Given the description of an element on the screen output the (x, y) to click on. 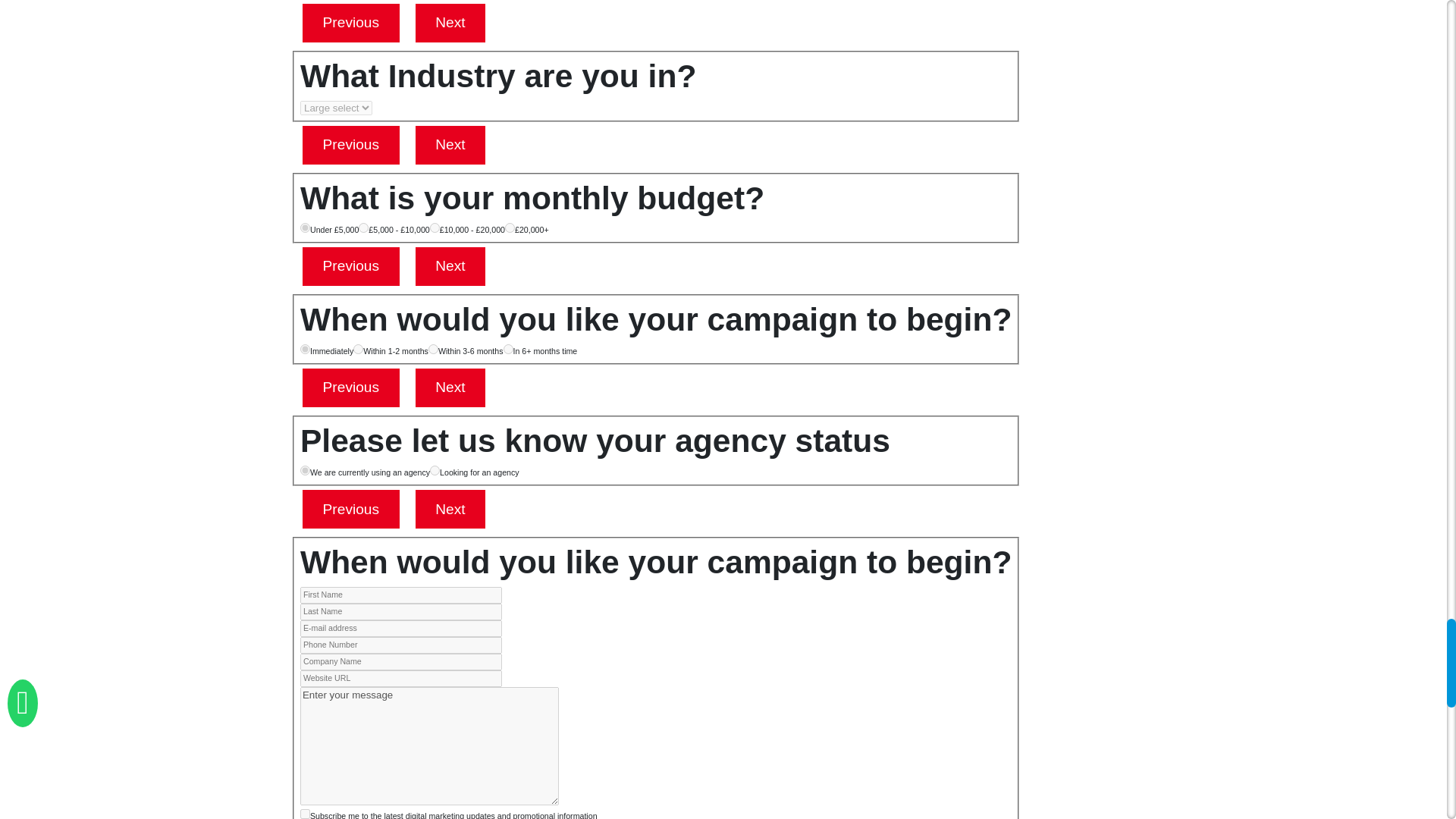
Within 3-6 months (433, 348)
Looking for an agency (434, 470)
We are currently using an agency (304, 470)
Within 1-2 months (357, 348)
Immediately (304, 348)
